Given the description of an element on the screen output the (x, y) to click on. 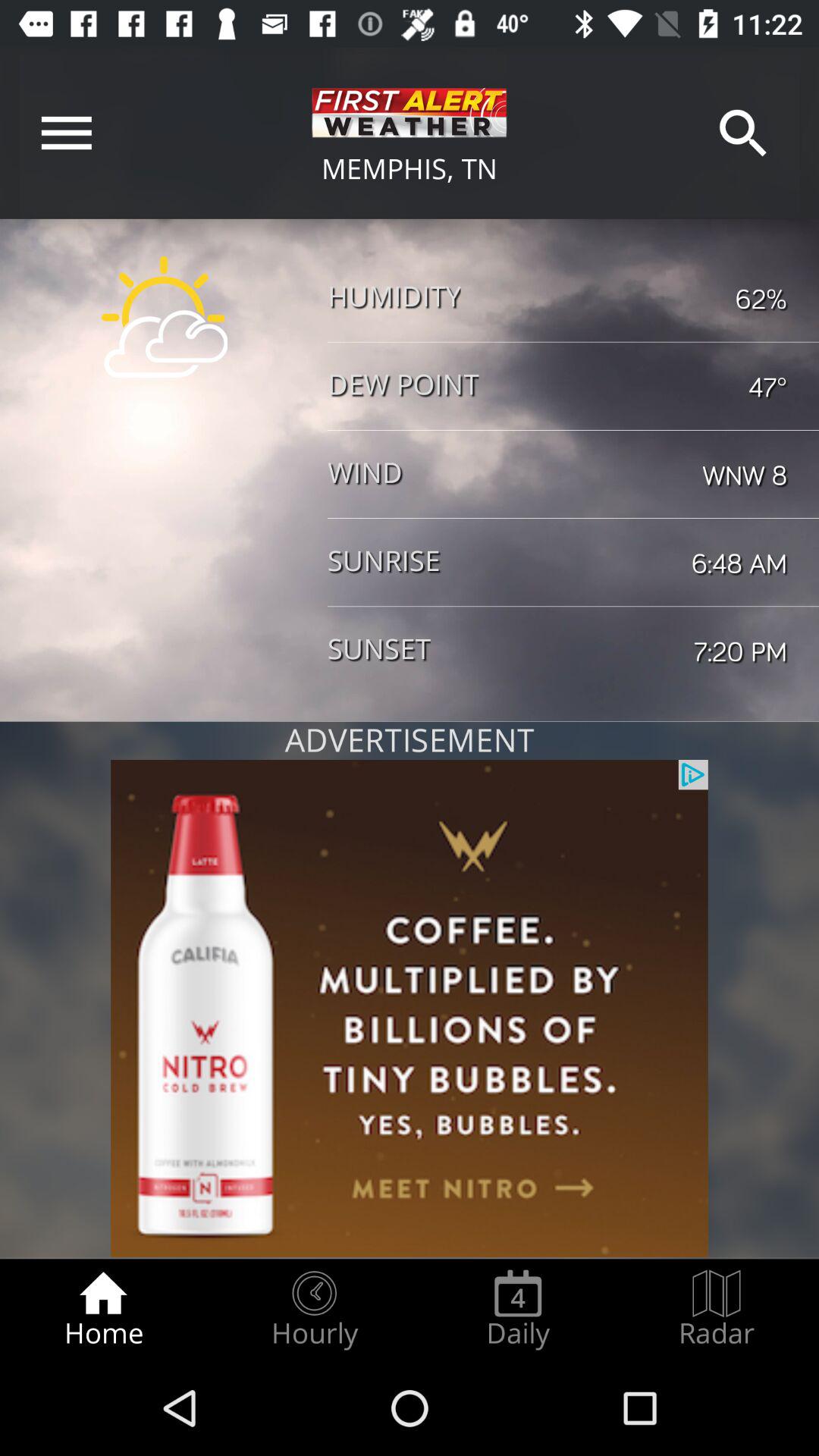
flip to hourly radio button (314, 1309)
